Given the description of an element on the screen output the (x, y) to click on. 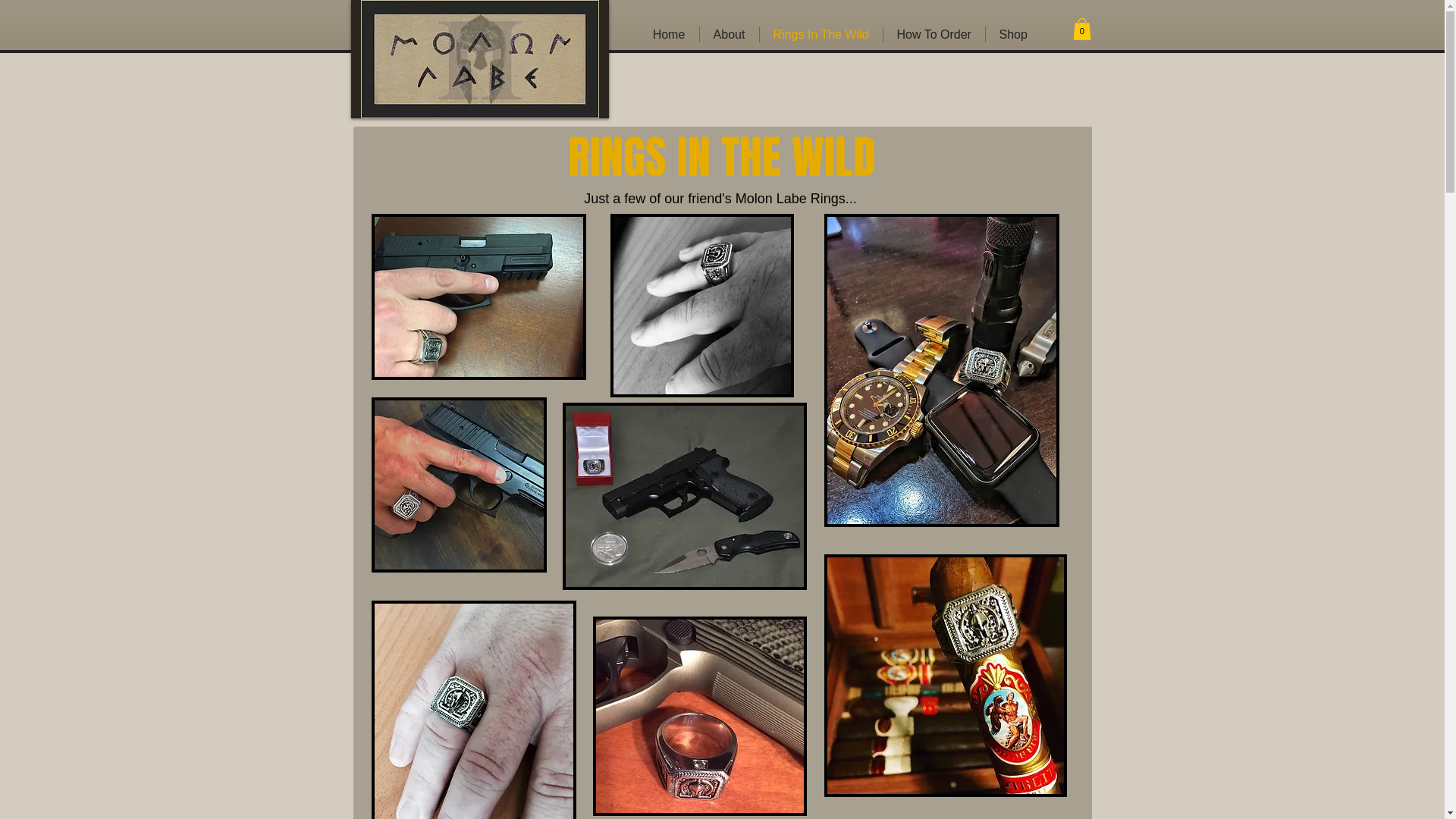
0 Element type: text (1081, 29)
Rings In The Wild Element type: text (820, 34)
How To Order Element type: text (933, 34)
Home Element type: text (668, 34)
Shop Element type: text (1013, 34)
2A-Molon-Labe-Logo-V3.jpg Element type: hover (479, 59)
About Element type: text (728, 34)
